Given the description of an element on the screen output the (x, y) to click on. 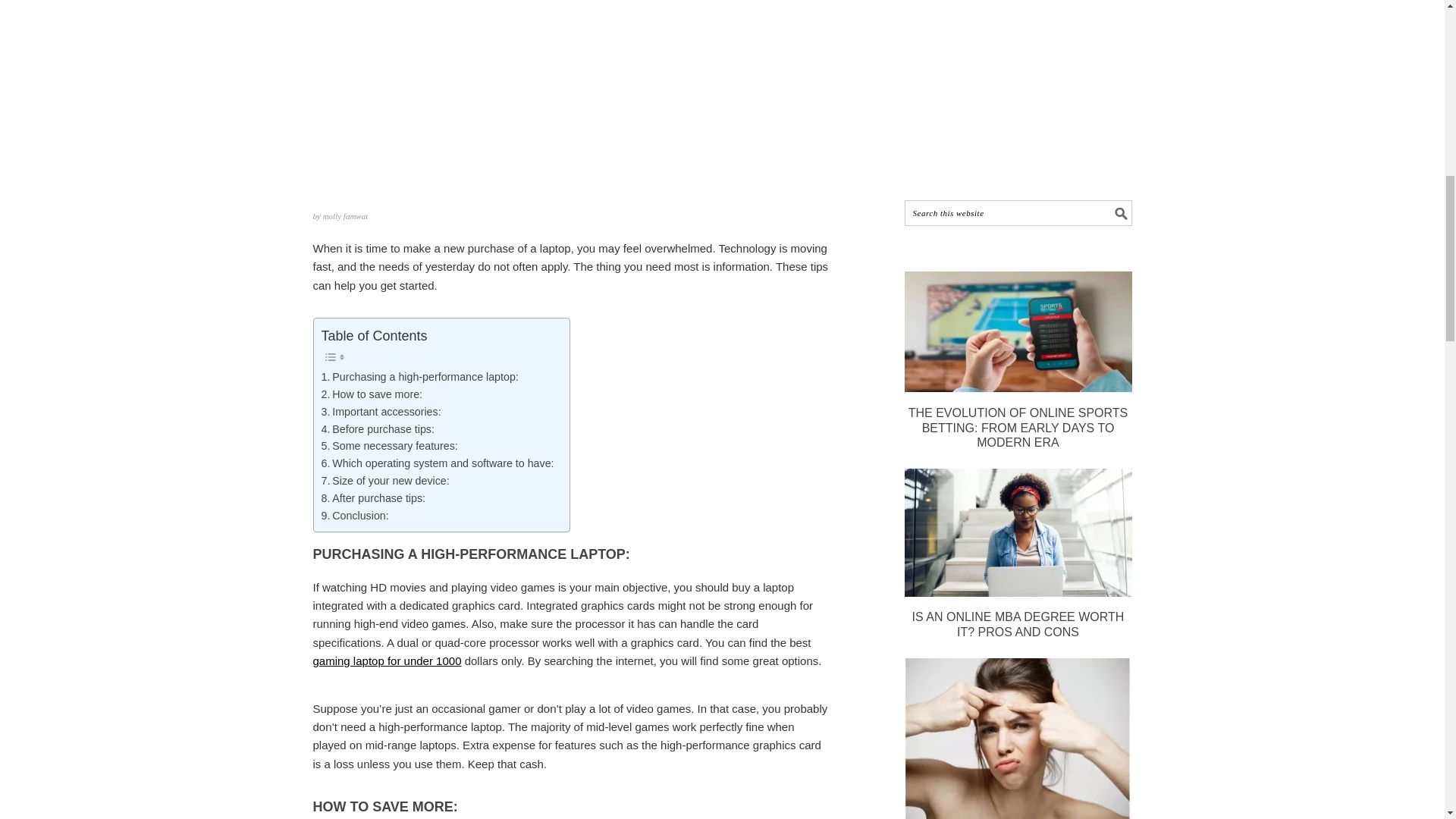
gaming laptop for under 1000 (387, 660)
Important accessories: (381, 411)
Purchasing a high-performance laptop: (419, 376)
molly famwat (345, 215)
Which operating system and software to have: (437, 463)
Size of your new device: (385, 480)
How to save more: (372, 394)
Before purchase tips: (377, 429)
After purchase tips: (373, 497)
Before purchase tips: (377, 429)
Purchasing a high-performance laptop: (419, 376)
Which operating system and software to have: (437, 463)
Conclusion: (354, 515)
How to save more: (372, 394)
